Given the description of an element on the screen output the (x, y) to click on. 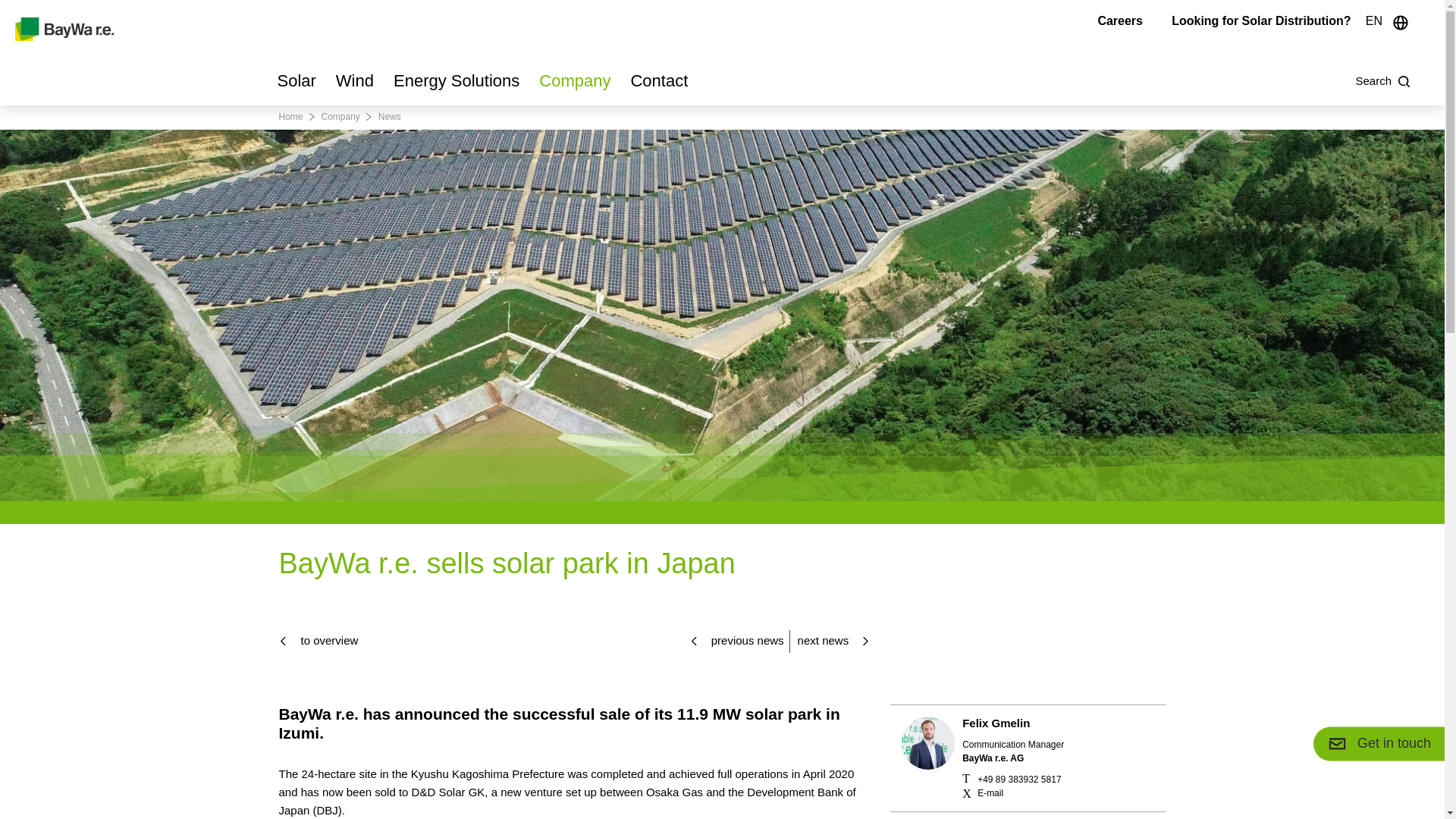
Careers (1119, 20)
Looking for Solar Distribution? (1261, 20)
Solar (296, 86)
Wind (355, 86)
Energy Solutions (456, 86)
Company (574, 86)
